Given the description of an element on the screen output the (x, y) to click on. 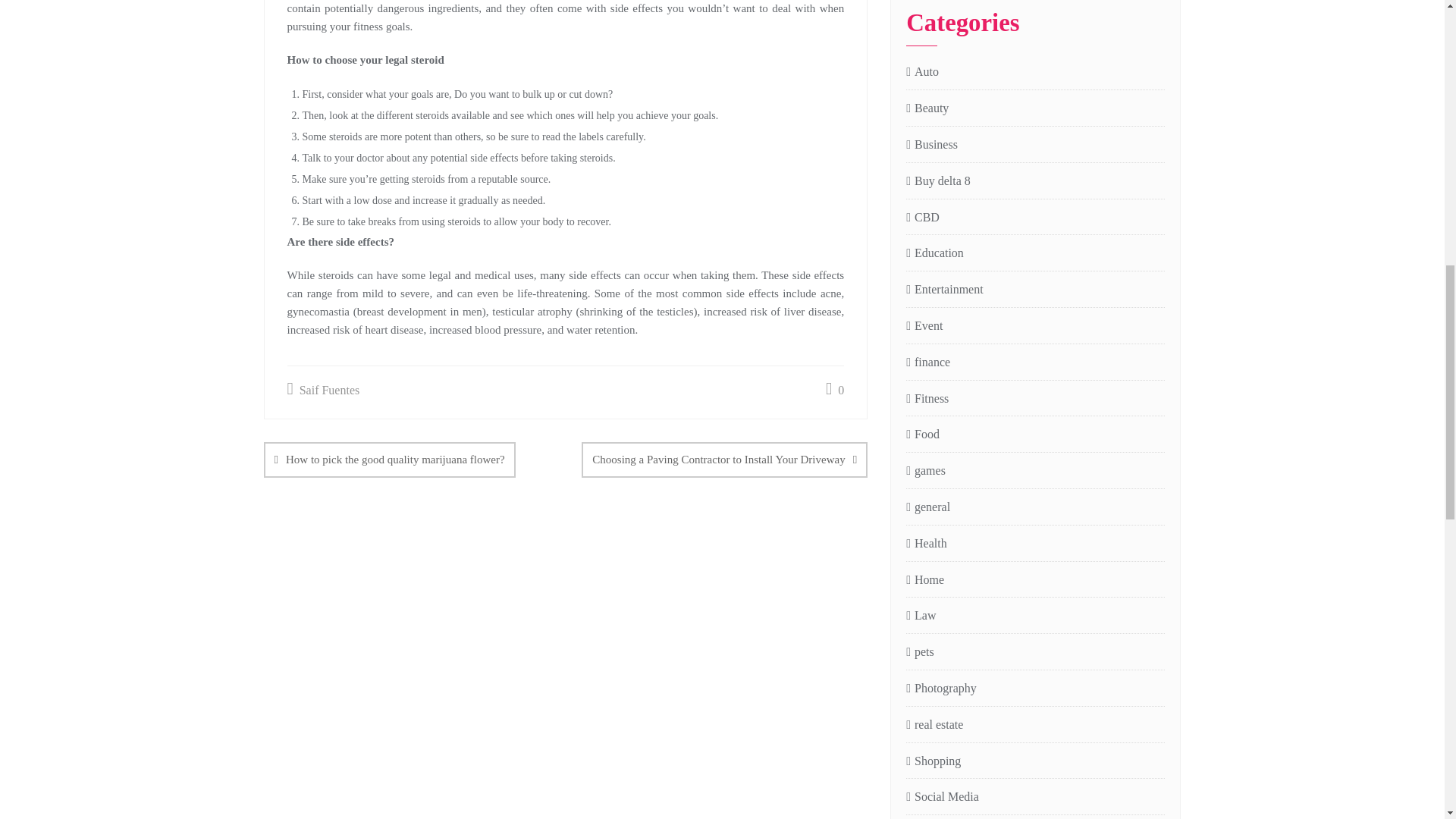
general (927, 507)
Business (931, 145)
Buy delta 8 (938, 181)
Shopping (932, 762)
Law (920, 616)
real estate (933, 725)
games (924, 471)
Beauty (927, 108)
CBD (922, 218)
Auto (922, 72)
